Given the description of an element on the screen output the (x, y) to click on. 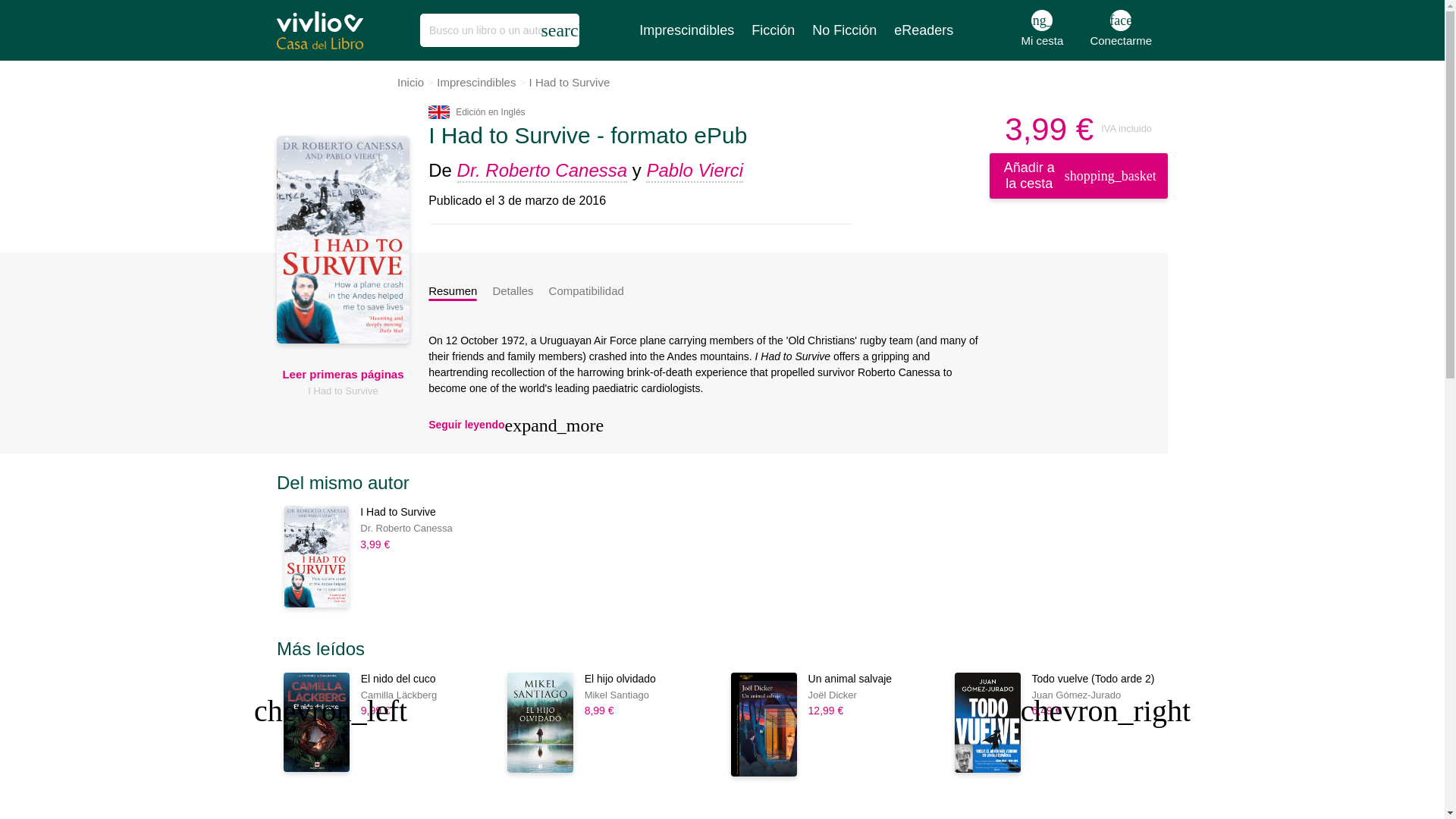
search (1119, 30)
